Given the description of an element on the screen output the (x, y) to click on. 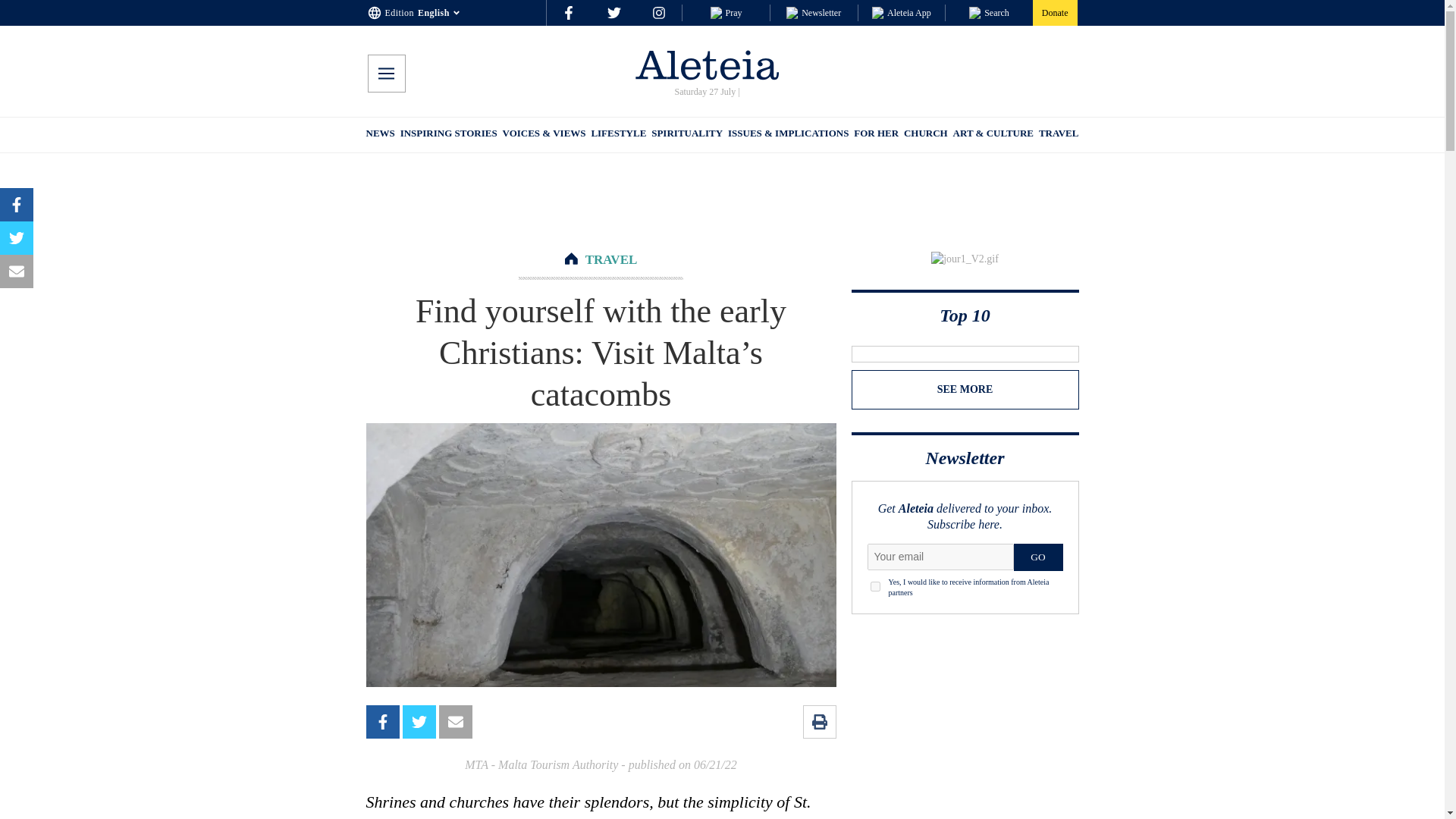
Pray (725, 12)
INSPIRING STORIES (448, 134)
1 (875, 586)
Newsletter (813, 12)
SPIRITUALITY (686, 134)
Aleteia App (901, 12)
CHURCH (925, 134)
TRAVEL (611, 259)
NEWS (379, 134)
Donate (1054, 12)
Search (989, 12)
LIFESTYLE (618, 134)
FOR HER (875, 134)
TRAVEL (1058, 134)
